Given the description of an element on the screen output the (x, y) to click on. 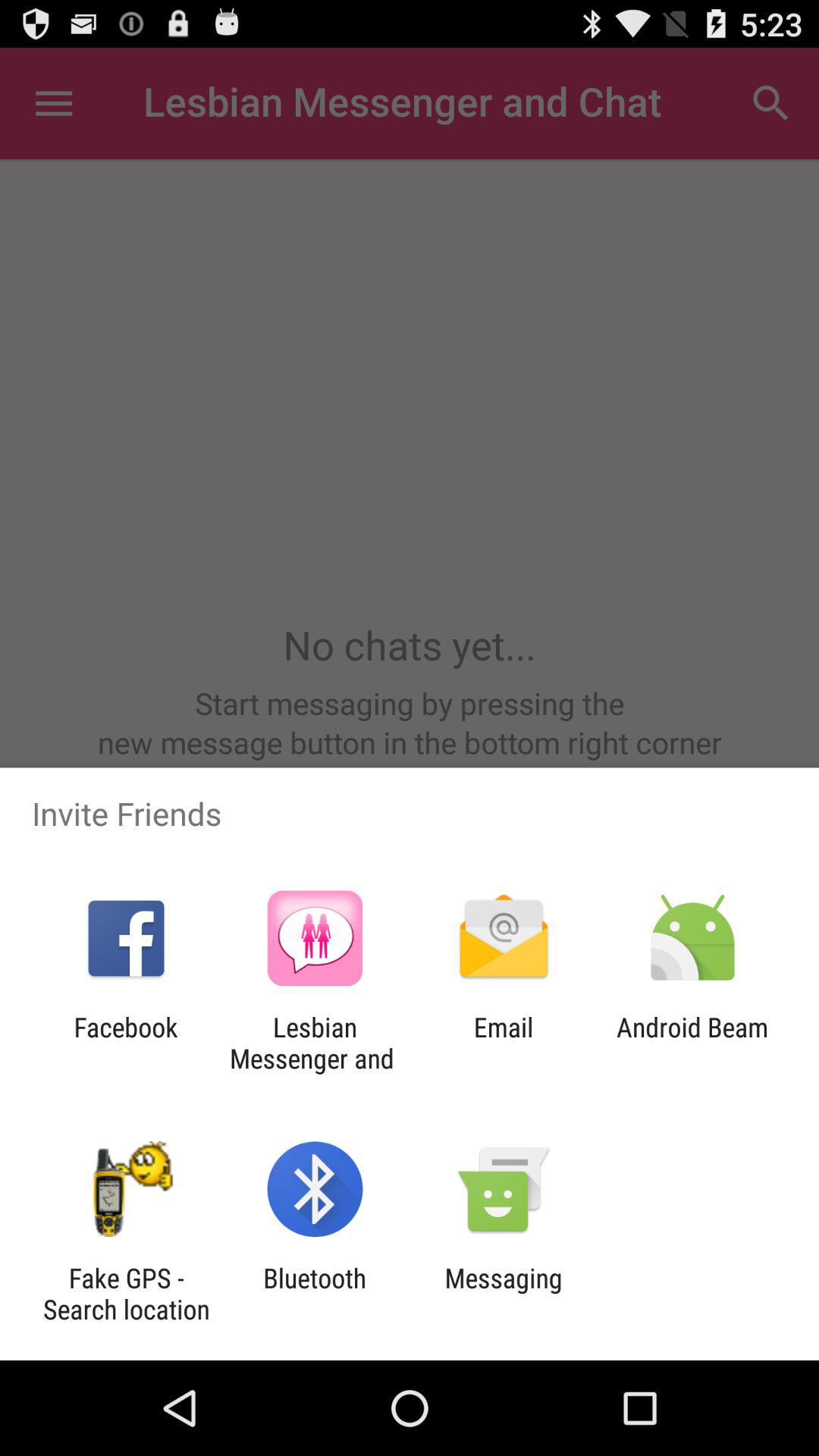
press app at the bottom right corner (692, 1042)
